Given the description of an element on the screen output the (x, y) to click on. 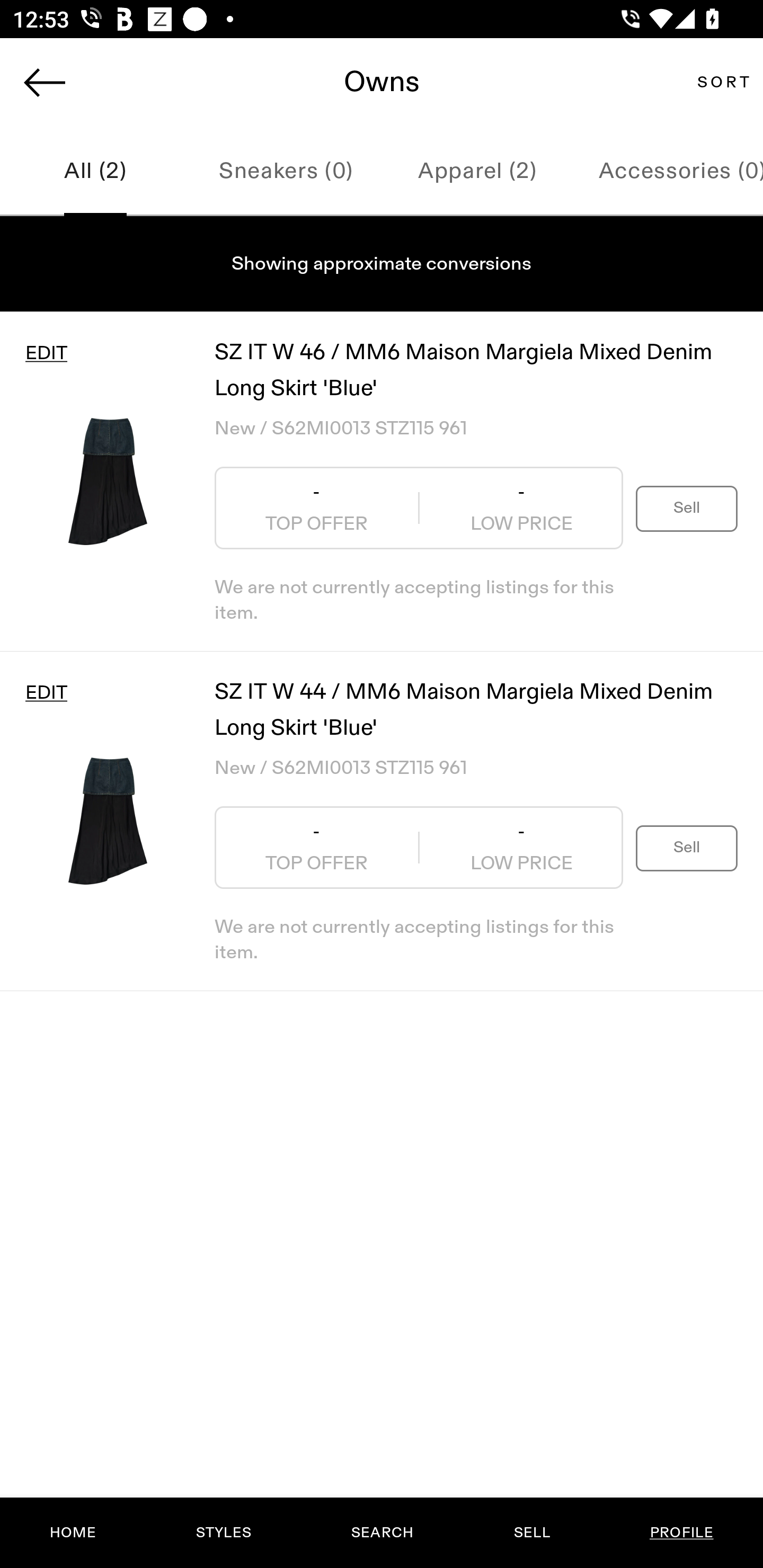
SORT (722, 81)
Sneakers (0) (285, 171)
Apparel (2) (476, 171)
Accessories (0) (667, 171)
EDIT (46, 352)
- - TOP OFFER LOW PRICE (418, 507)
Sell (686, 507)
EDIT (46, 692)
- - TOP OFFER LOW PRICE (418, 847)
Sell (686, 847)
HOME (72, 1532)
STYLES (222, 1532)
SEARCH (381, 1532)
SELL (531, 1532)
PROFILE (681, 1532)
